Given the description of an element on the screen output the (x, y) to click on. 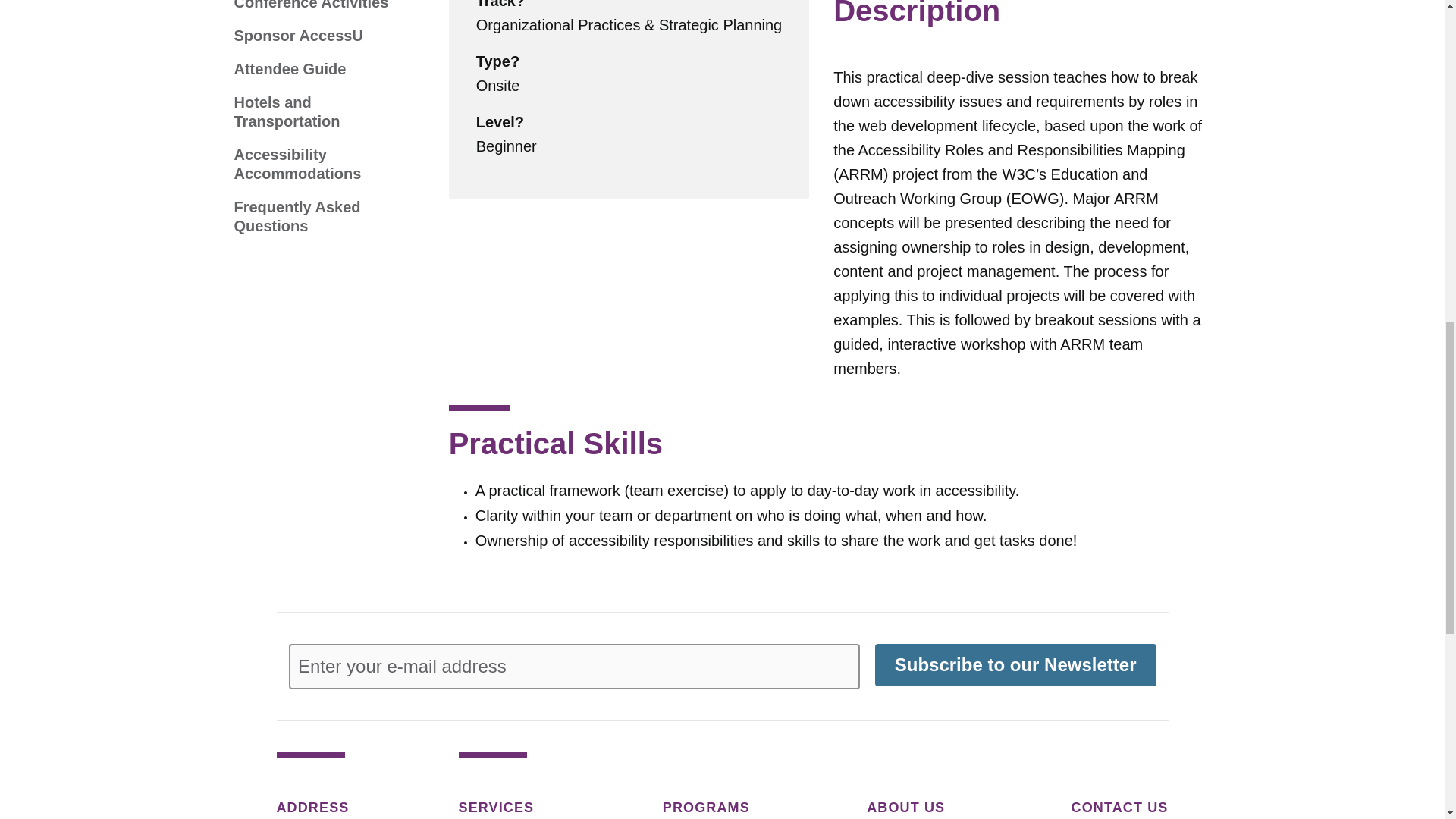
Hotels and Transportation (314, 112)
Frequently Asked Questions (314, 216)
Subscribe to our Newsletter (1015, 664)
Accessibility Accommodations (314, 164)
Conference Activities (310, 6)
Subscribe to our Newsletter (1015, 664)
Attendee Guide (289, 68)
Sponsor AccessU (297, 35)
